Given the description of an element on the screen output the (x, y) to click on. 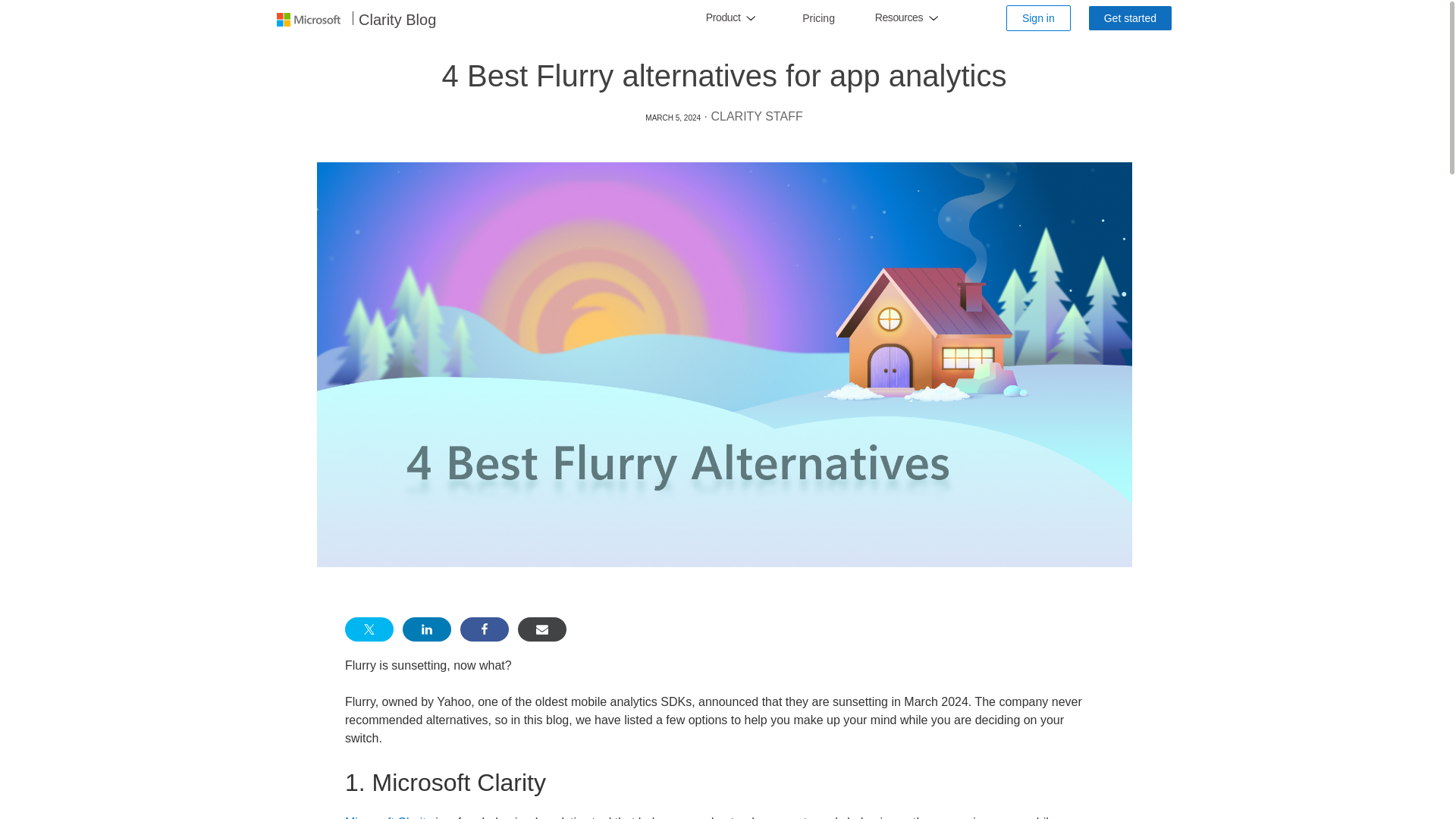
Product (723, 18)
Sign in (1038, 17)
Clarity Blog (396, 19)
Pricing (818, 18)
Share on LinkedIn (427, 629)
Get started (1130, 17)
Resources (899, 18)
Share via Email (542, 629)
Share on Twitter (369, 629)
Share on Facebook (484, 629)
